Given the description of an element on the screen output the (x, y) to click on. 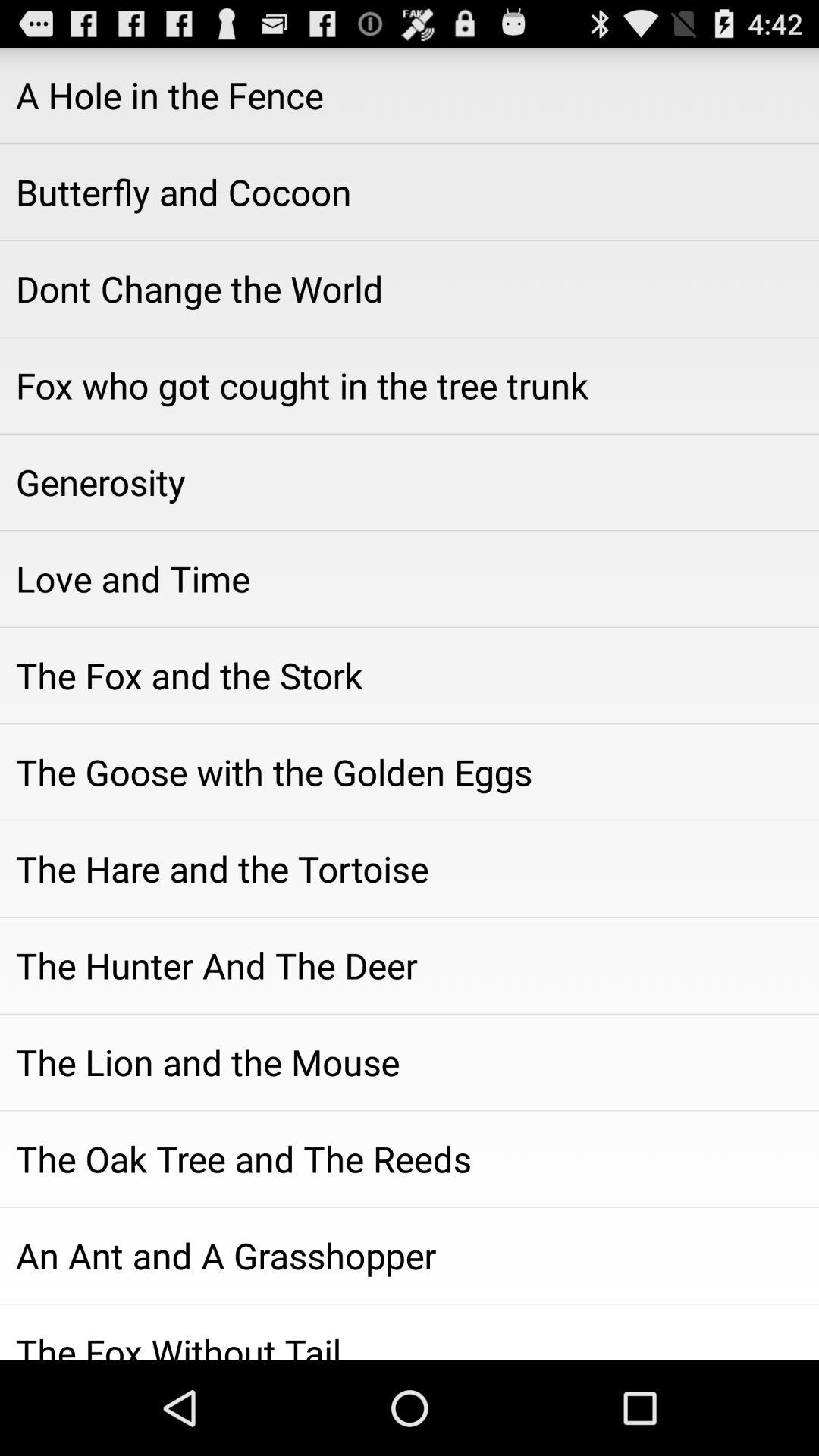
select the icon below the fox who got app (409, 482)
